Given the description of an element on the screen output the (x, y) to click on. 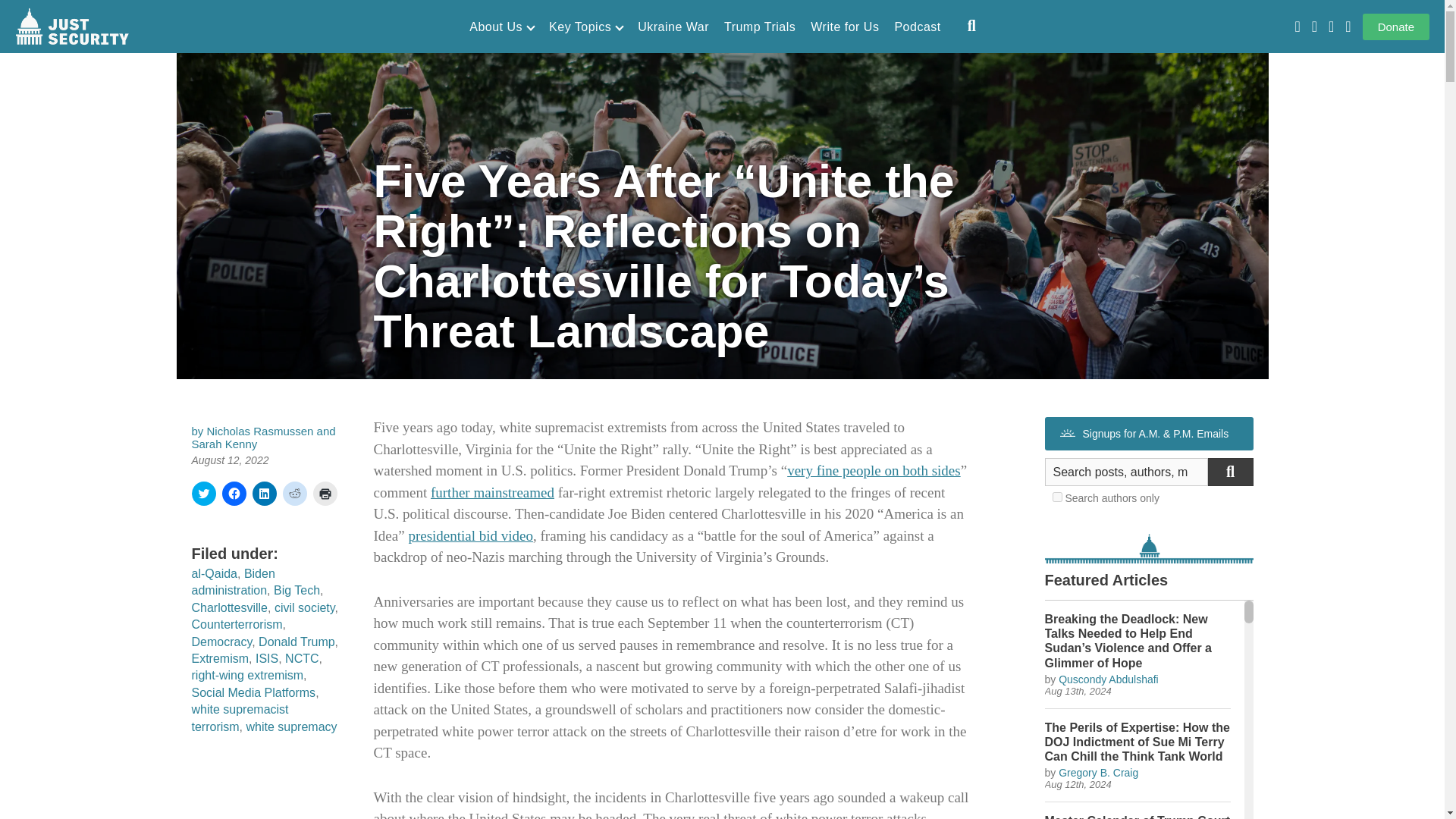
Click to share on LinkedIn (263, 493)
Profile and articles by Sarah Kenny (223, 443)
Click to share on Reddit (293, 493)
Click to share on Facebook (233, 493)
Podcast (916, 27)
Key Topics (585, 27)
Profile and articles by Nicholas Rasmussen (260, 431)
on (1057, 497)
Ukraine War (673, 27)
Write for Us (844, 27)
